Given the description of an element on the screen output the (x, y) to click on. 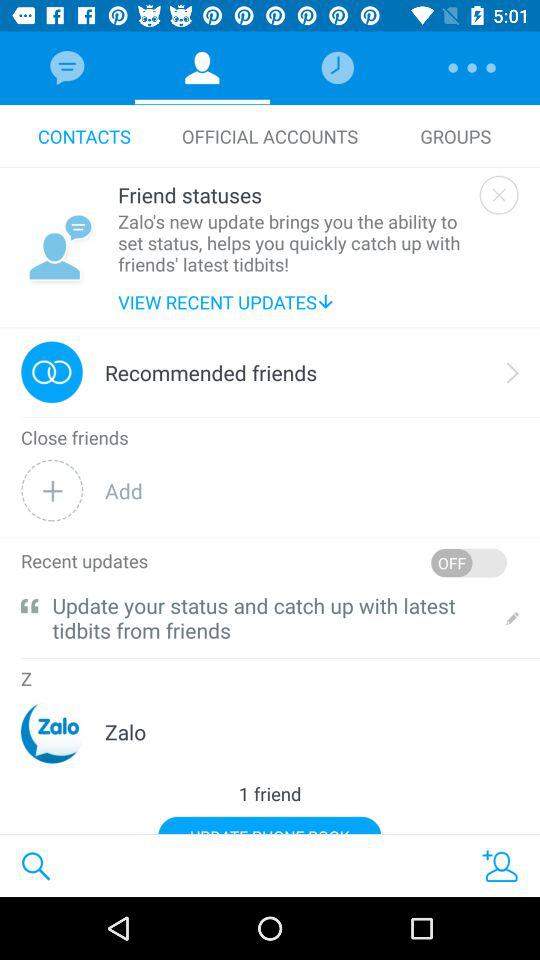
launch the icon to the left of the friend statuses (59, 247)
